Given the description of an element on the screen output the (x, y) to click on. 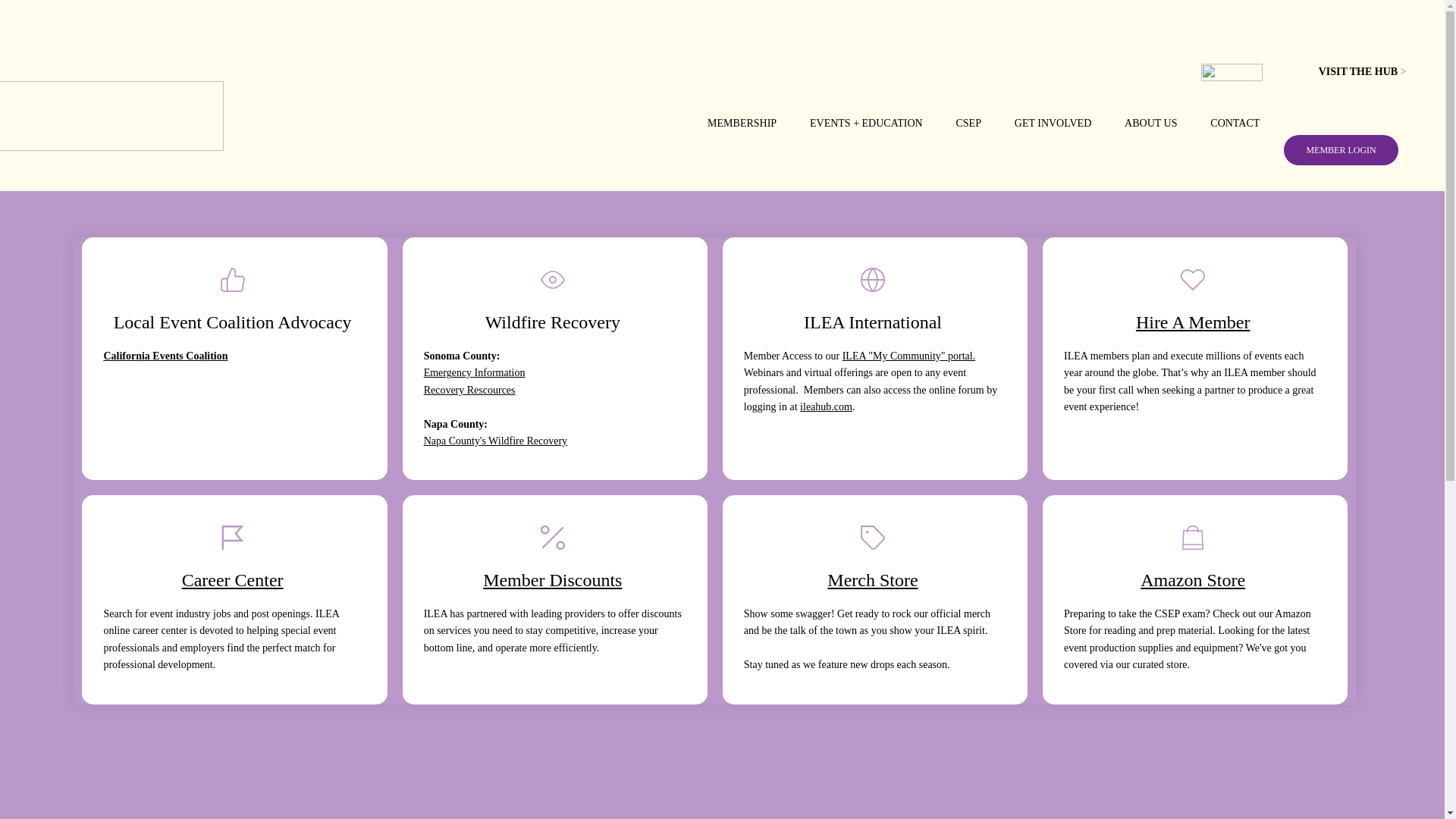
Member Discounts (552, 579)
Emergency Information (474, 372)
MEMBER LOGIN (1341, 150)
Napa County's Wildfire Recovery (495, 440)
ILEA International (872, 322)
California Events Coalition (165, 355)
Hire A Member (1192, 322)
ILEA "My Community" portal. (909, 355)
CSEP (968, 123)
ileahub.com (825, 406)
Merch Store (872, 579)
CONTACT (1234, 123)
MEMBERSHIP (742, 123)
Amazon Store (1192, 579)
ABOUT US (1150, 123)
